Given the description of an element on the screen output the (x, y) to click on. 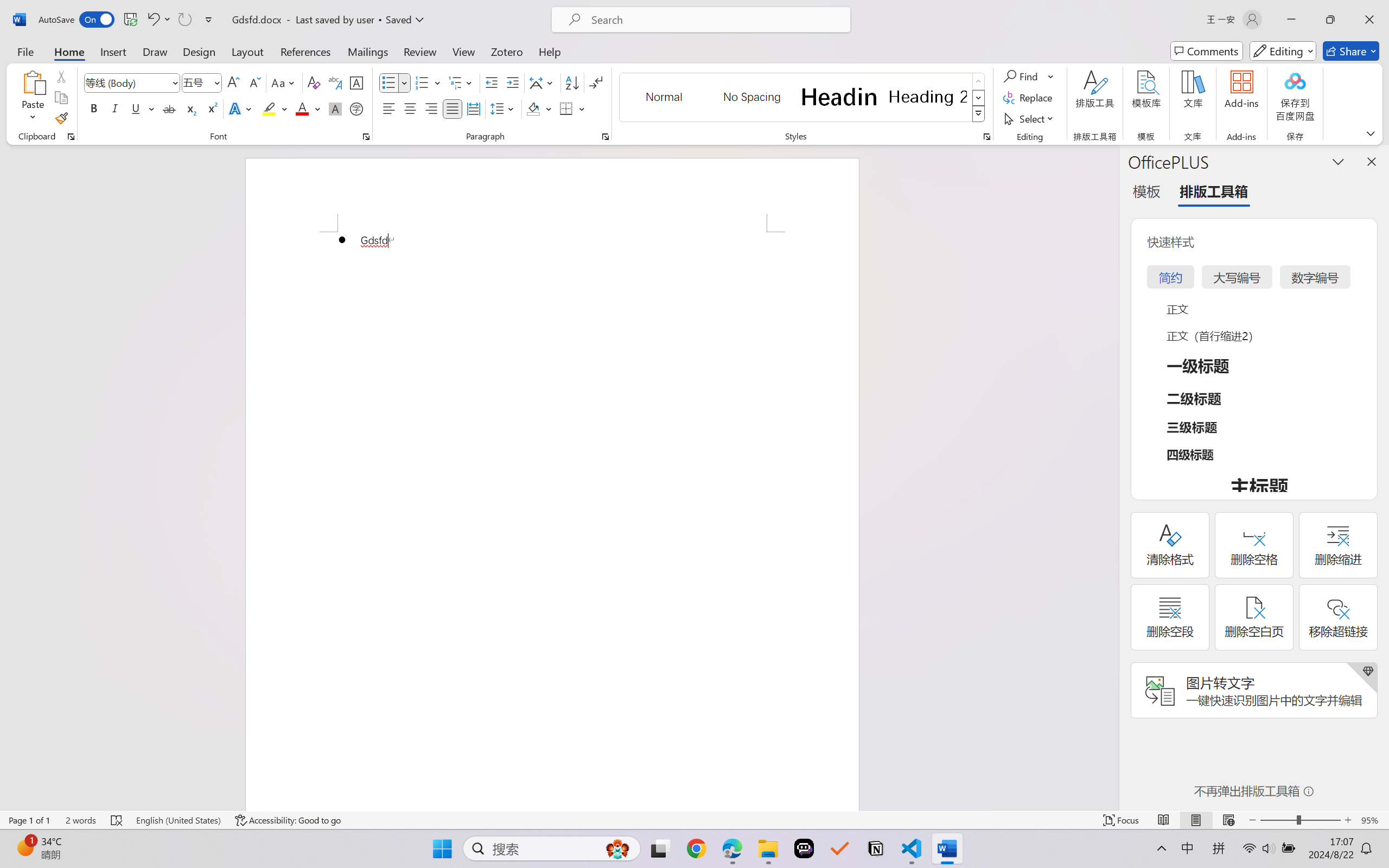
Class: NetUIScrollBar (1111, 477)
